Given the description of an element on the screen output the (x, y) to click on. 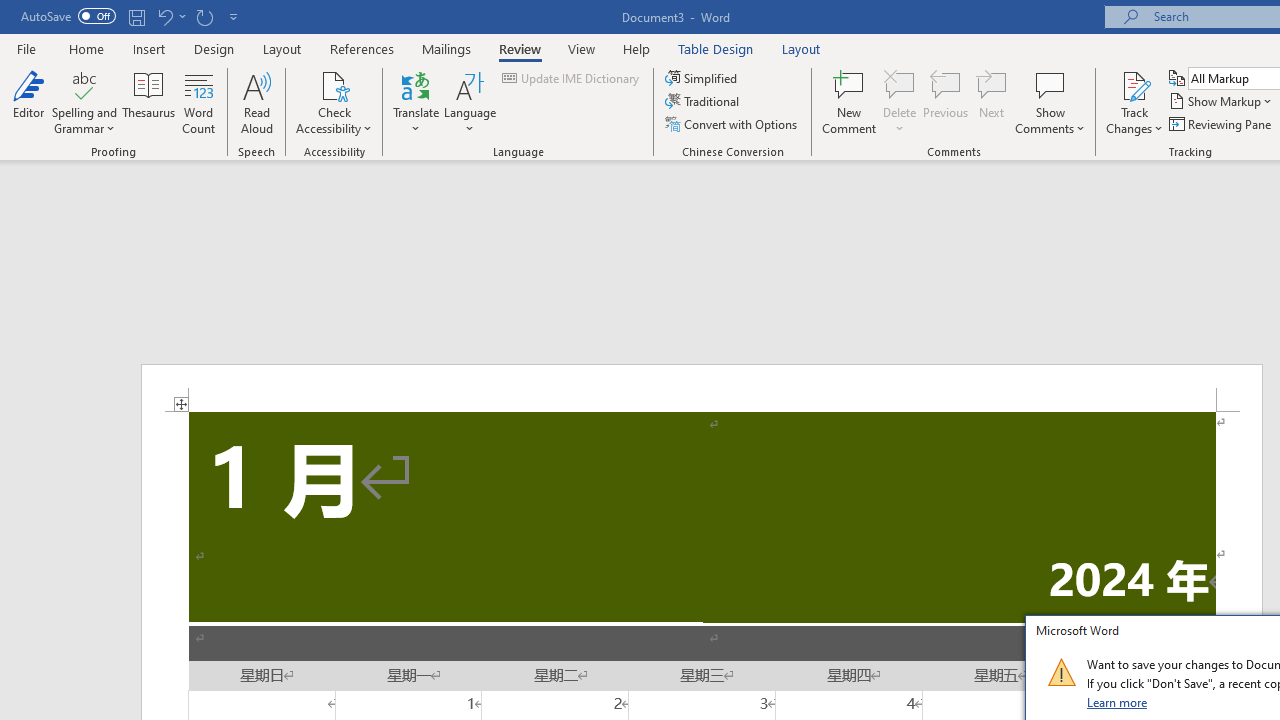
Learn more (1118, 702)
Thesaurus... (148, 102)
Convert with Options... (732, 124)
Spelling and Grammar (84, 102)
Track Changes (1134, 84)
Header -Section 1- (701, 387)
Reviewing Pane (1221, 124)
Traditional (703, 101)
Show Comments (1050, 84)
Translate (415, 102)
Undo Apply Quick Style (170, 15)
